Given the description of an element on the screen output the (x, y) to click on. 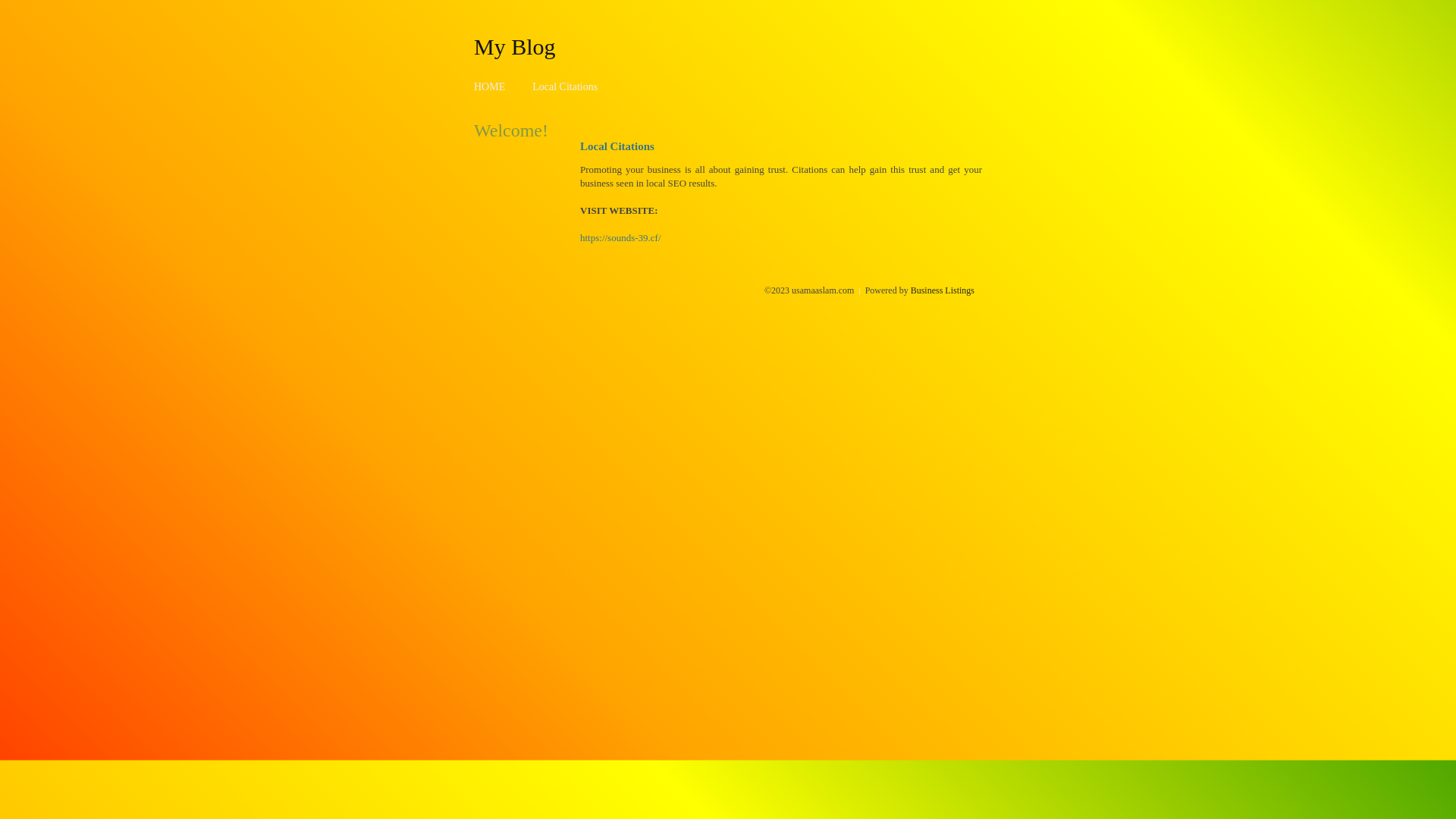
Local Citations Element type: text (564, 86)
https://sounds-39.cf/ Element type: text (620, 237)
Business Listings Element type: text (942, 290)
HOME Element type: text (489, 86)
My Blog Element type: text (514, 46)
